Given the description of an element on the screen output the (x, y) to click on. 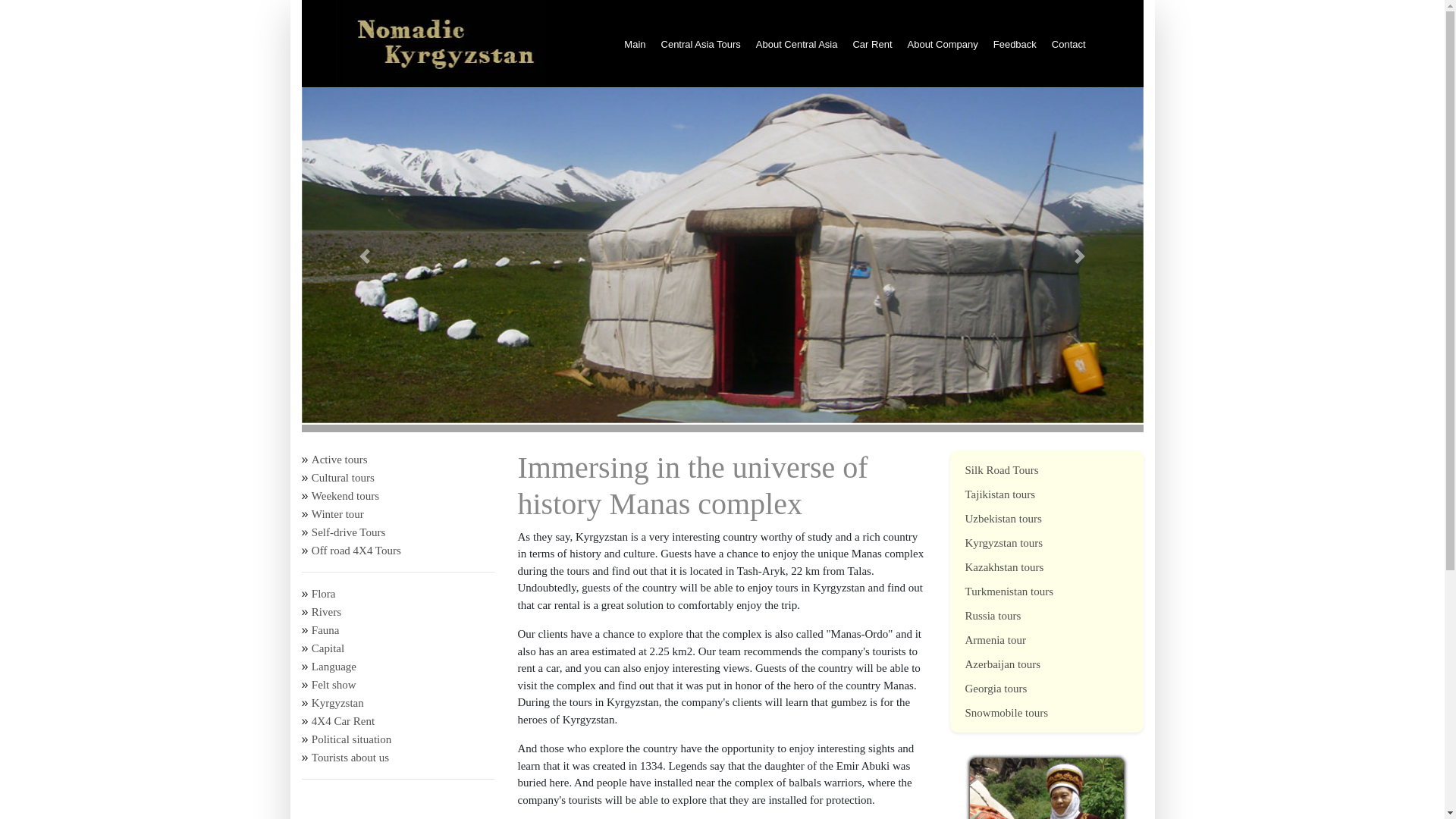
Uzbekistan tours (1002, 518)
Azerbaijan tours (1002, 664)
Off road 4X4 Tours (356, 550)
Kazakhstan tours (1003, 567)
Tourists about us (349, 757)
Self-drive Tours (348, 532)
Central Asia Tours (708, 43)
Weekend tours (344, 495)
Felt show (333, 684)
Active tours (339, 459)
